Given the description of an element on the screen output the (x, y) to click on. 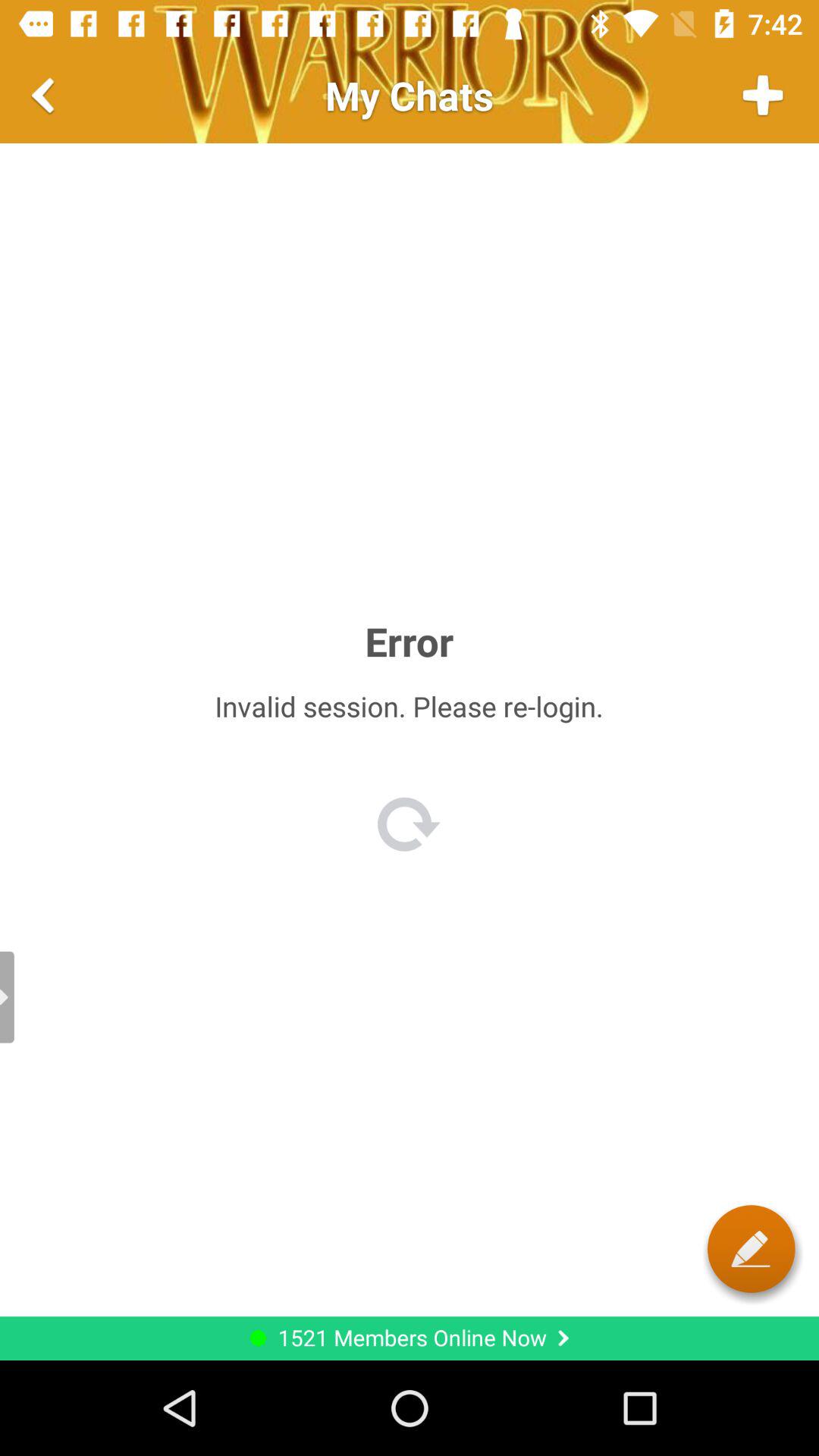
go back (45, 95)
